Given the description of an element on the screen output the (x, y) to click on. 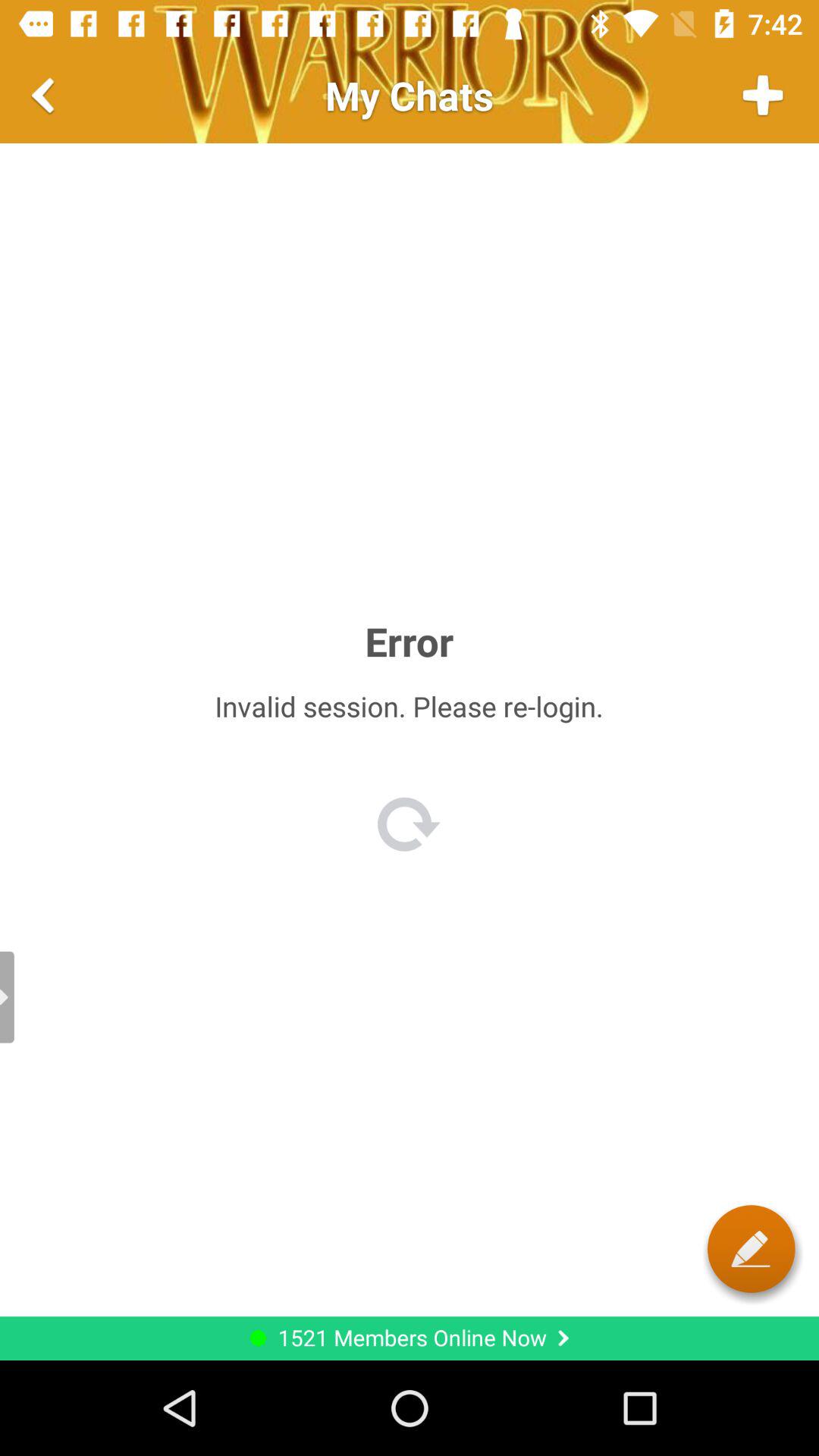
go back (45, 95)
